Given the description of an element on the screen output the (x, y) to click on. 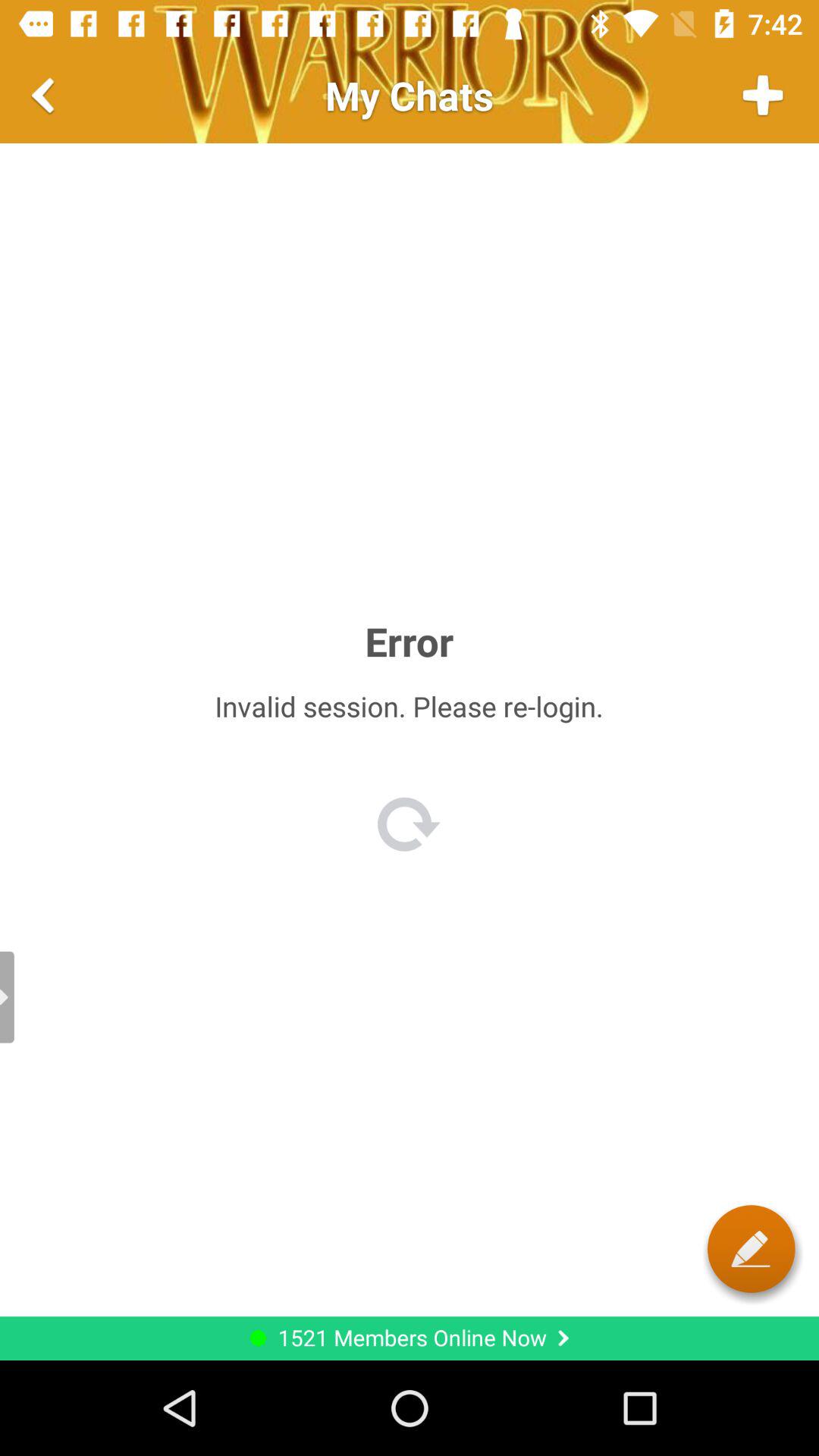
go back (45, 95)
